Given the description of an element on the screen output the (x, y) to click on. 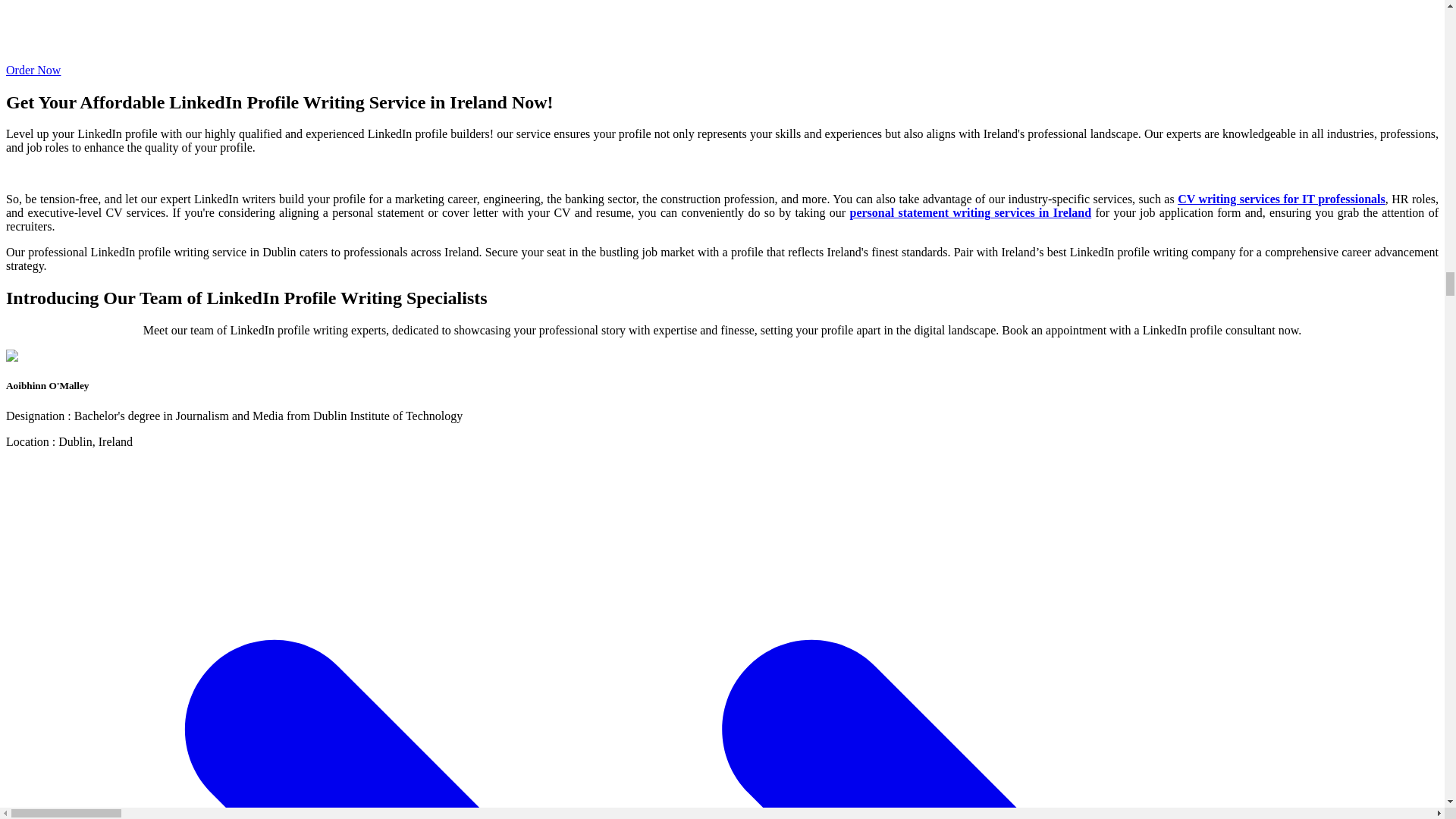
personal statement writing services in Ireland (969, 212)
Order Now (721, 62)
CV writing services for IT professionals (1281, 198)
Personal Statement Writers in Ireland (969, 212)
